Given the description of an element on the screen output the (x, y) to click on. 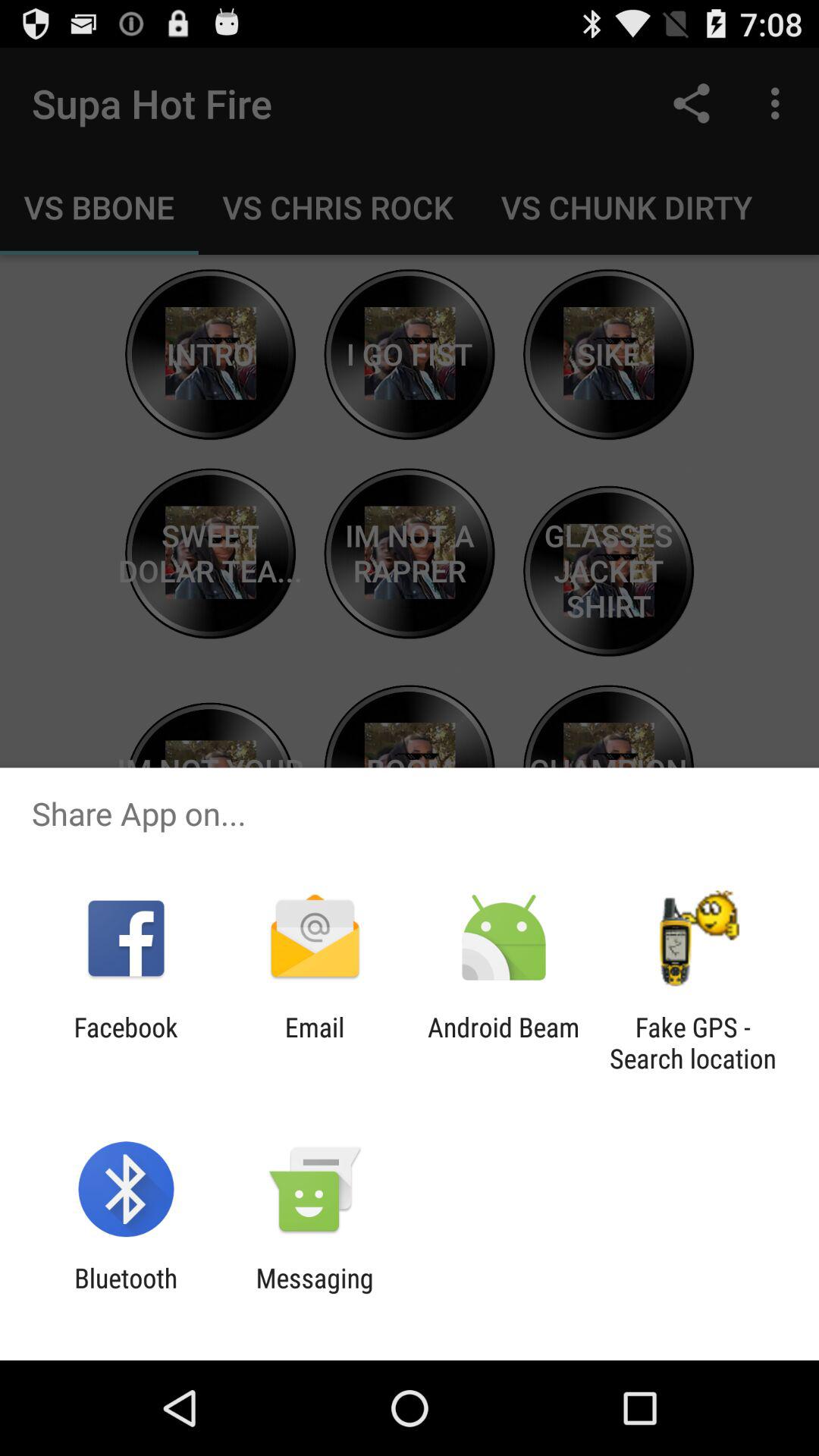
turn on the app next to email app (503, 1042)
